Given the description of an element on the screen output the (x, y) to click on. 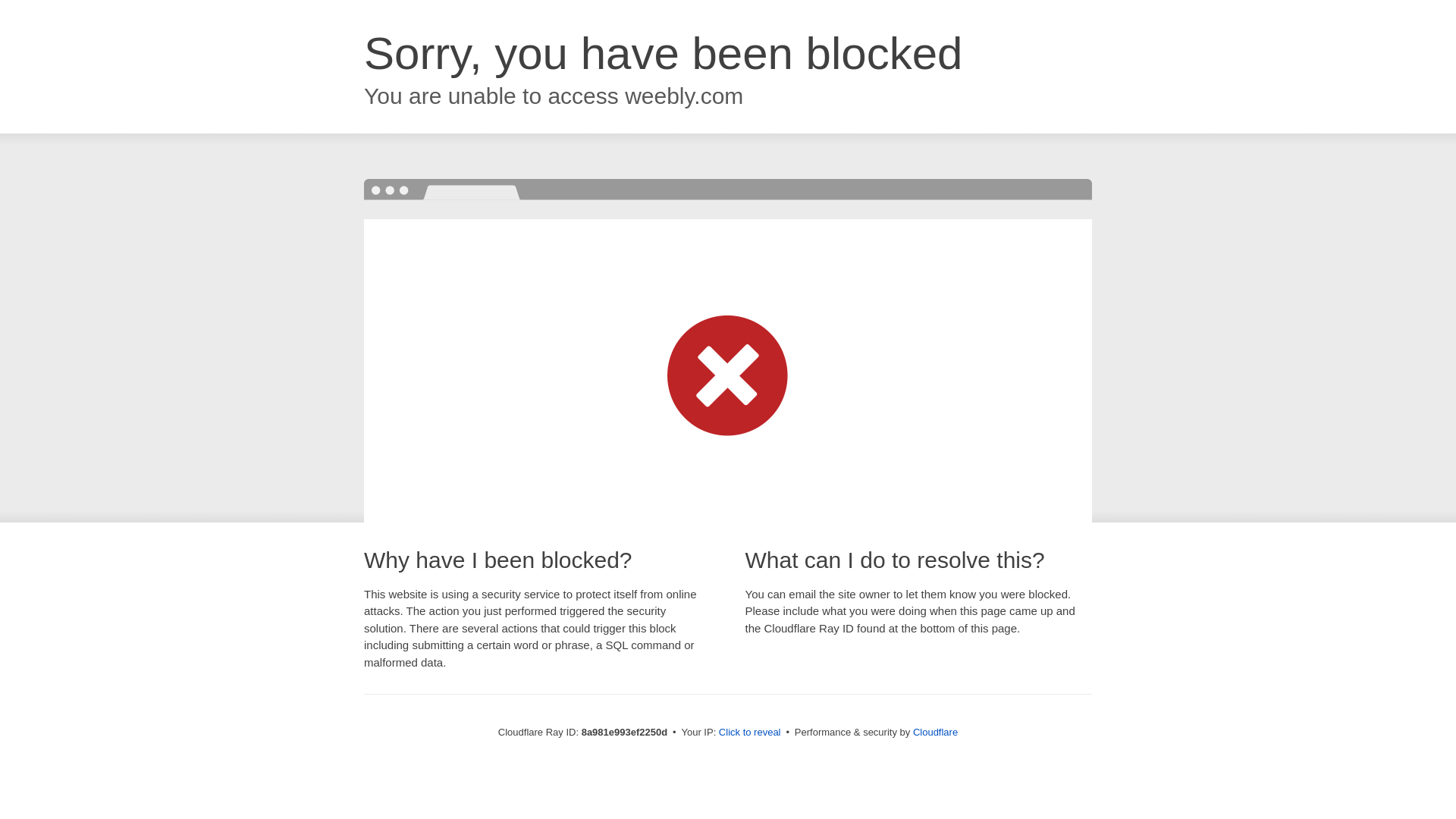
Cloudflare (935, 731)
Click to reveal (749, 732)
